Given the description of an element on the screen output the (x, y) to click on. 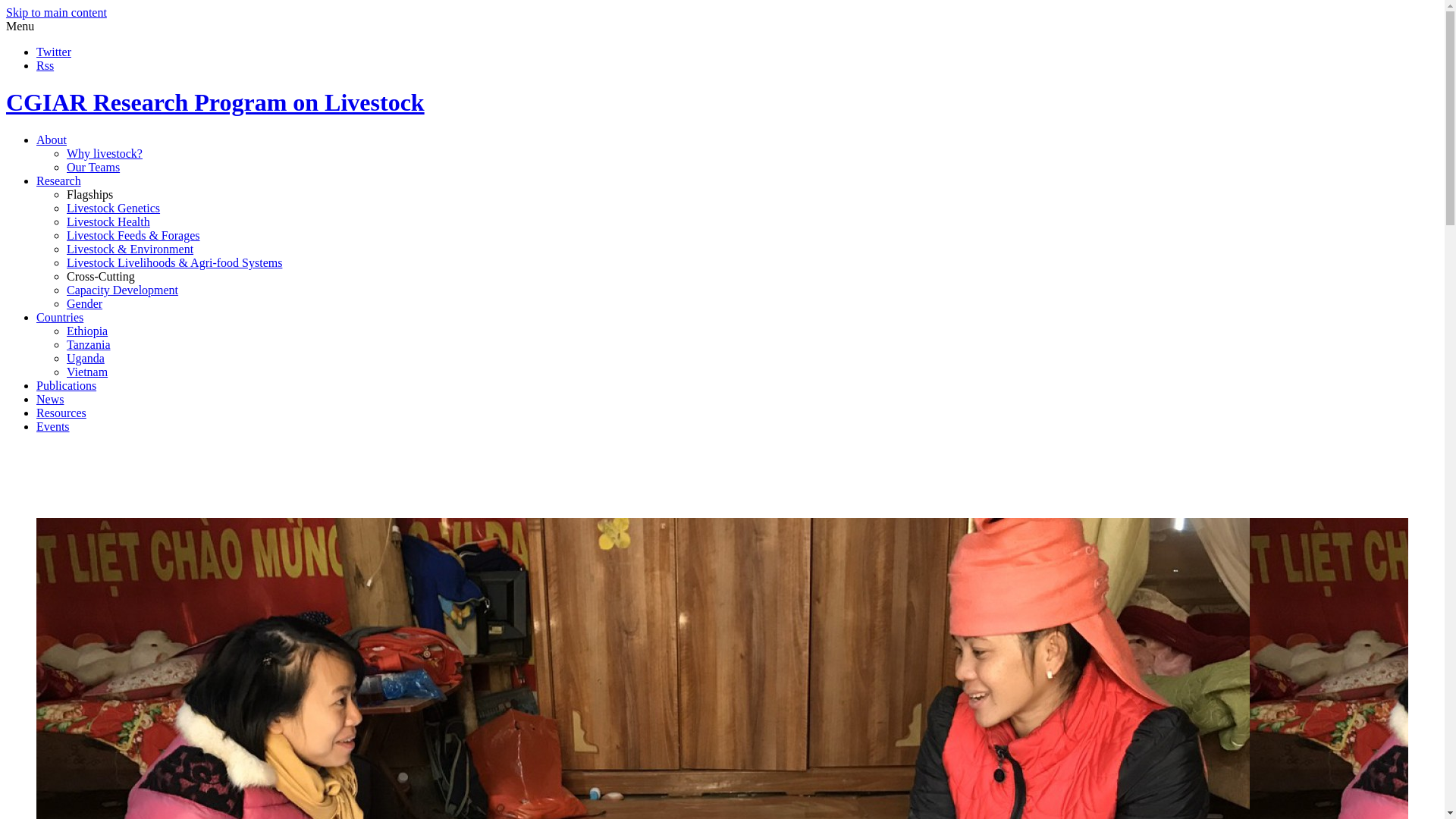
Gender (83, 303)
Countries (59, 317)
Uganda (85, 358)
Events (52, 426)
Our Teams (92, 166)
Ethiopia (86, 330)
Twitter (53, 51)
Livestock Genetics (113, 207)
Capacity Development (121, 289)
About (51, 139)
Skip to main content (55, 11)
Research (58, 180)
Livestock Health (107, 221)
News (50, 399)
Publications (66, 385)
